Given the description of an element on the screen output the (x, y) to click on. 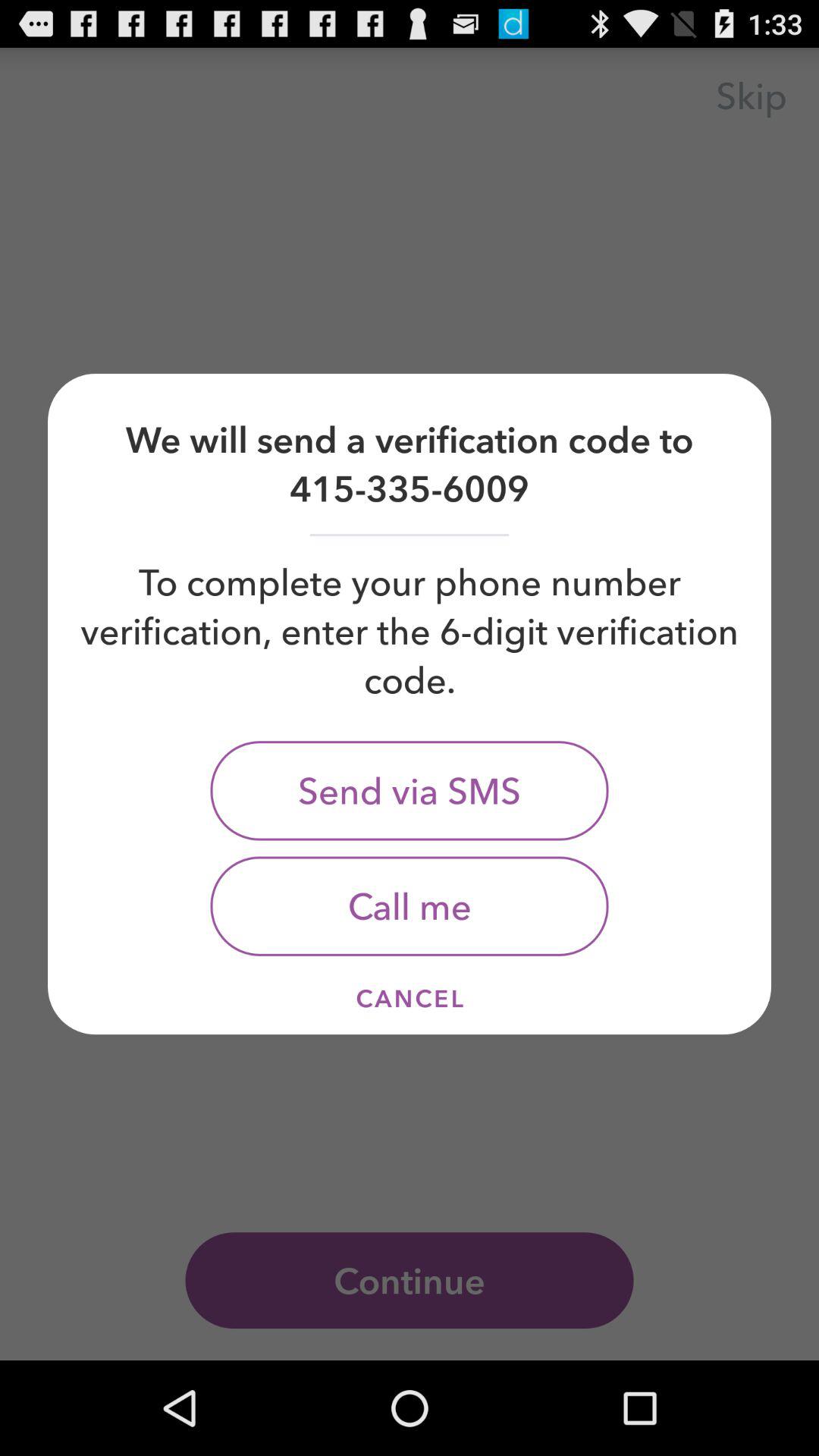
choose the item below call me item (409, 998)
